Given the description of an element on the screen output the (x, y) to click on. 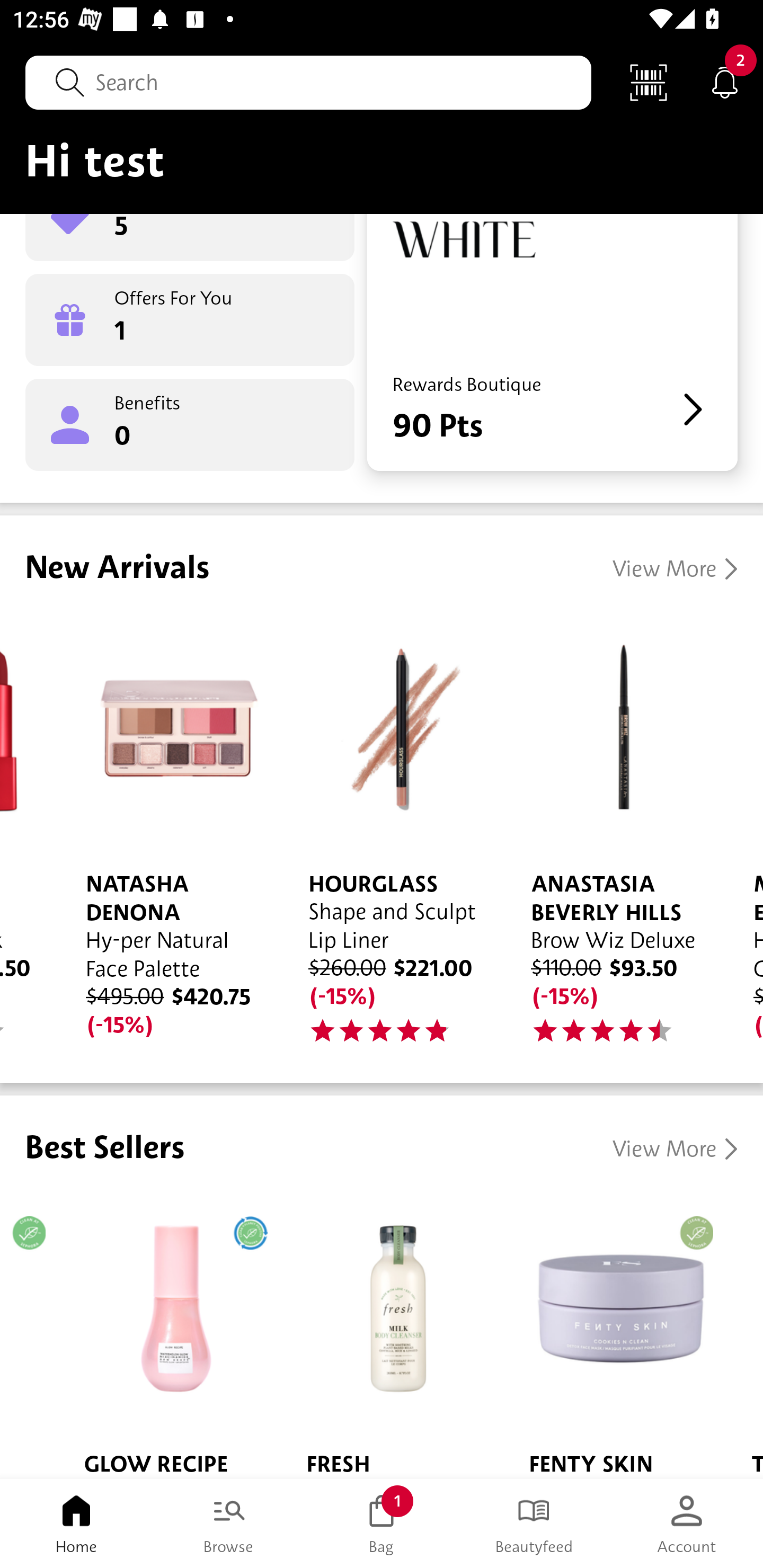
Scan Code (648, 81)
Notifications (724, 81)
Search (308, 81)
Rewards Boutique 90 Pts (552, 341)
Offers For You 1 (189, 319)
Benefits 0 (189, 424)
View More (674, 569)
View More (674, 1149)
FRESH Milk Body Cleanser (391, 1334)
Browse (228, 1523)
Bag 1 Bag (381, 1523)
Beautyfeed (533, 1523)
Account (686, 1523)
